Given the description of an element on the screen output the (x, y) to click on. 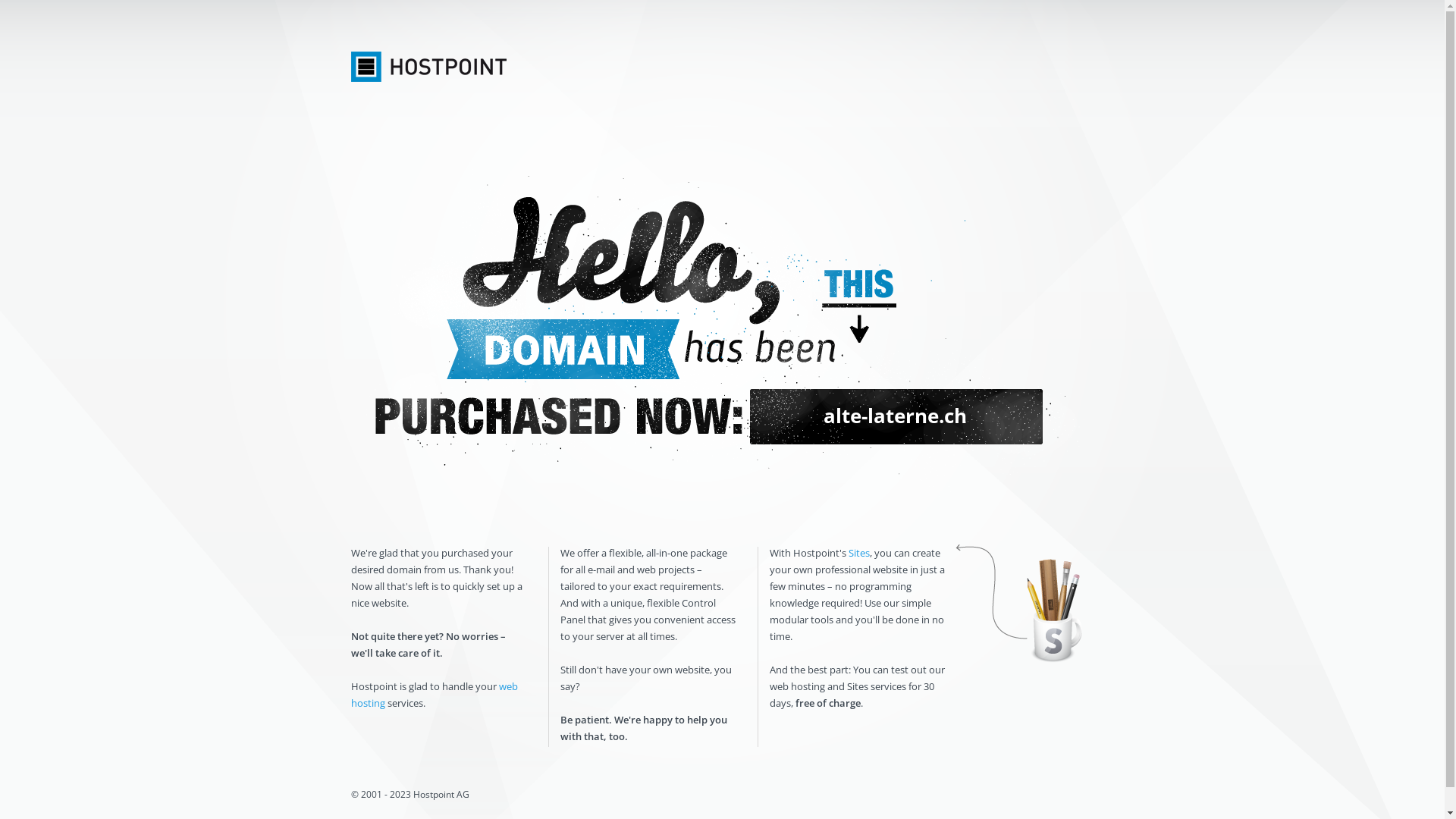
Sites Element type: text (858, 552)
web hosting Element type: text (433, 694)
